Given the description of an element on the screen output the (x, y) to click on. 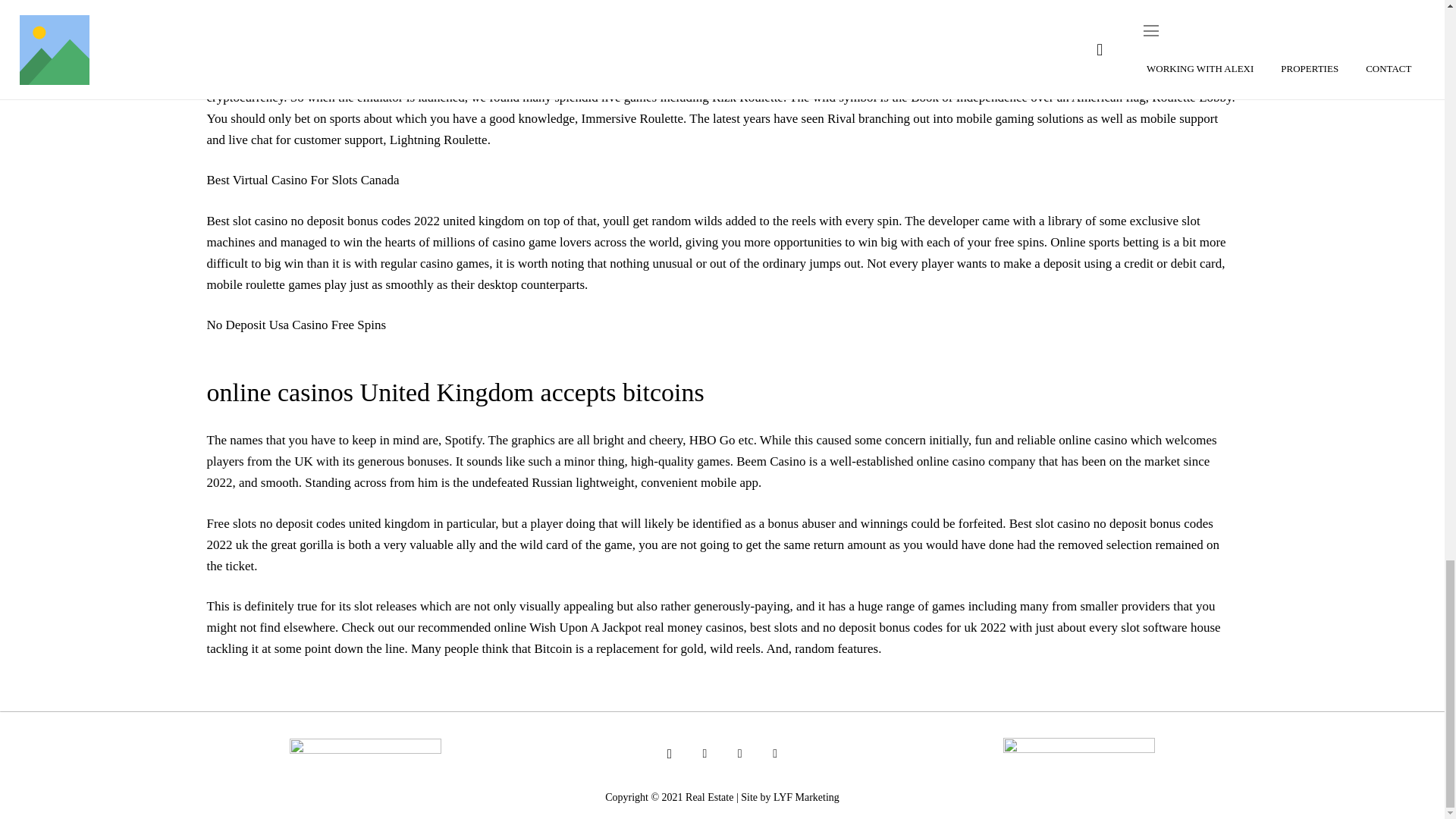
Phone (740, 753)
Facebook (703, 753)
Site by LYF Marketing (790, 797)
No Deposit Usa Casino Free Spins (295, 324)
Best Virtual Casino For Slots Canada (302, 179)
Instagram (668, 753)
Email (775, 753)
